Given the description of an element on the screen output the (x, y) to click on. 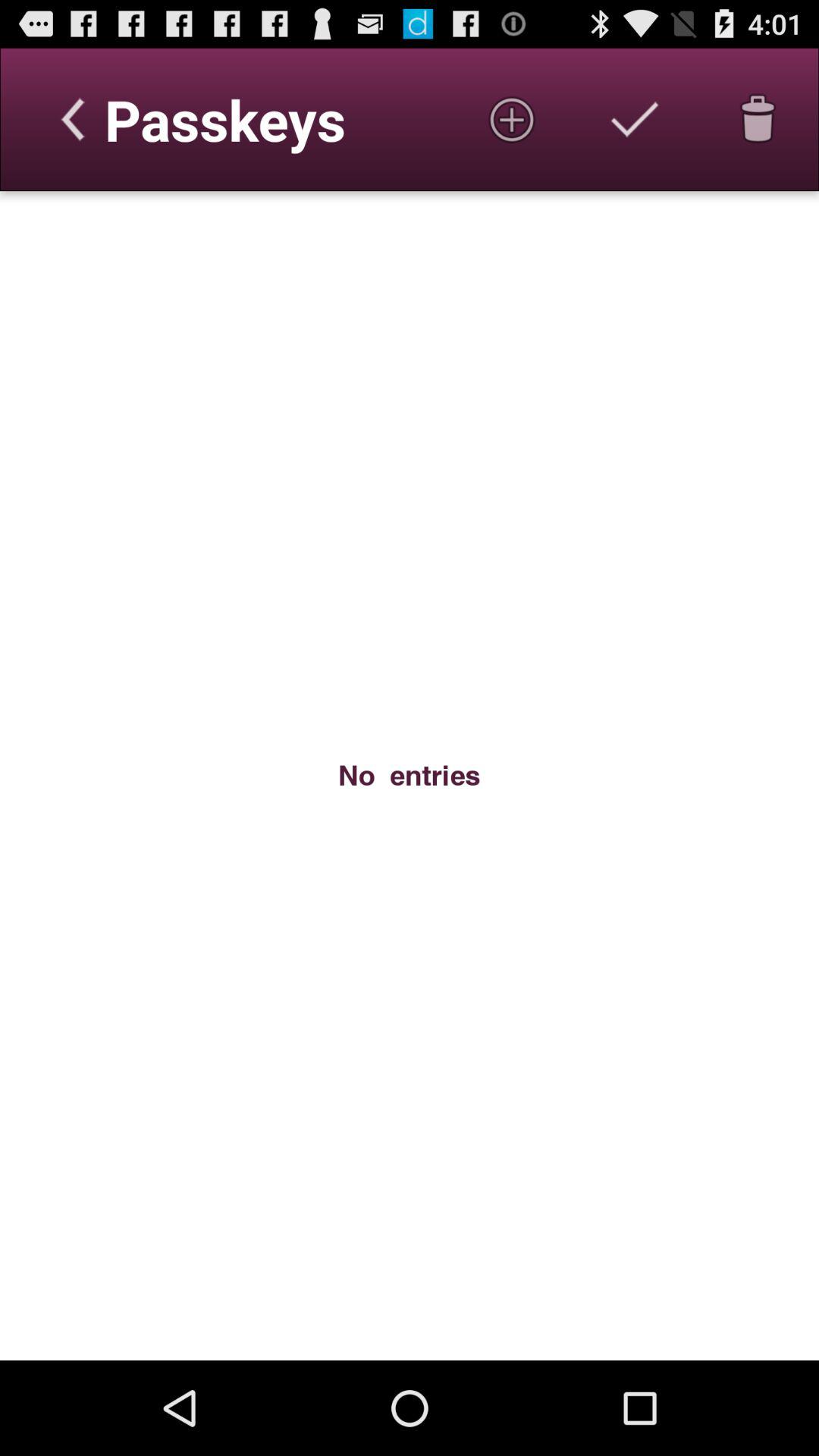
delete items (757, 119)
